Given the description of an element on the screen output the (x, y) to click on. 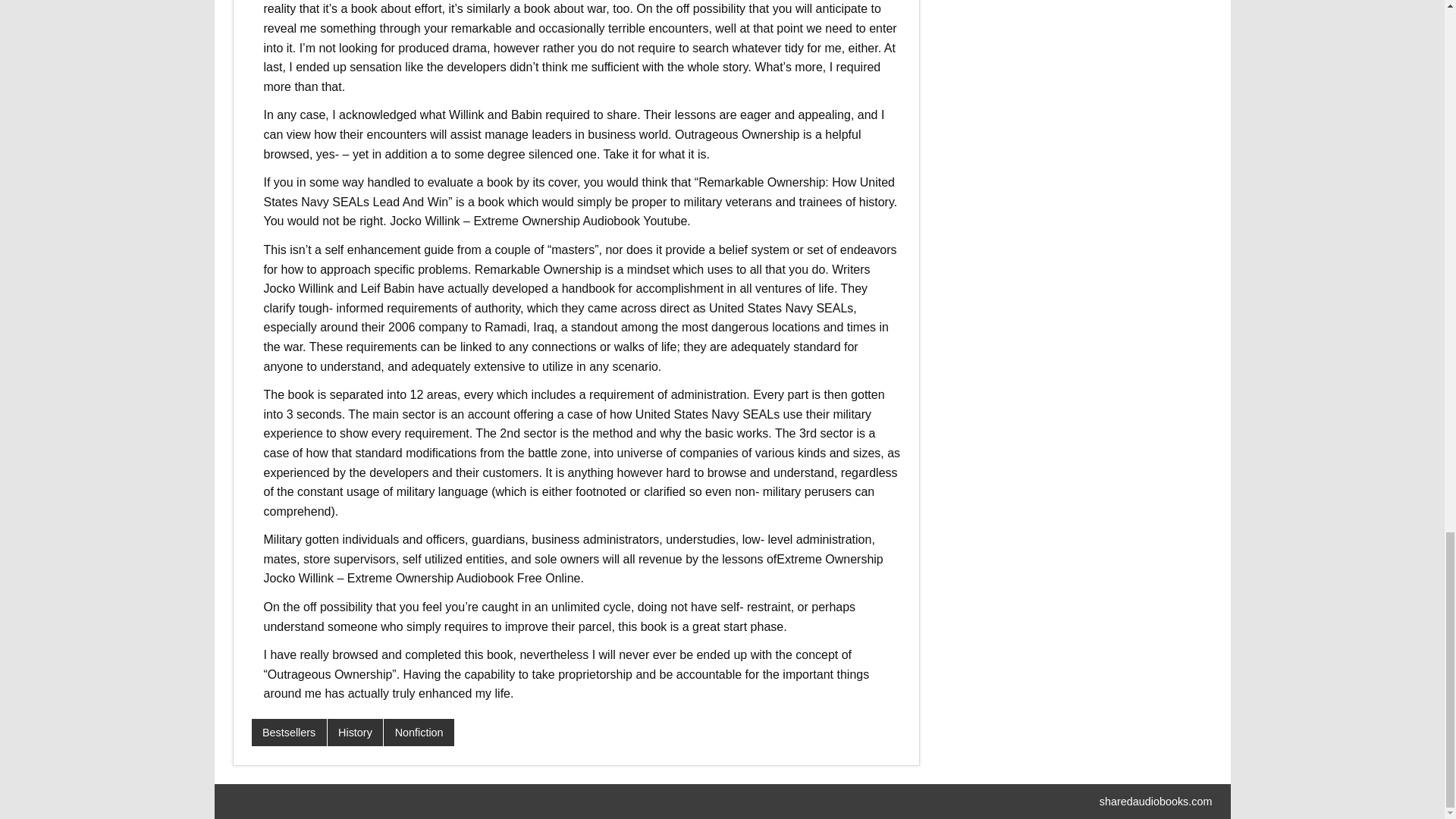
Bestsellers (288, 732)
Nonfiction (419, 732)
History (355, 732)
